Given the description of an element on the screen output the (x, y) to click on. 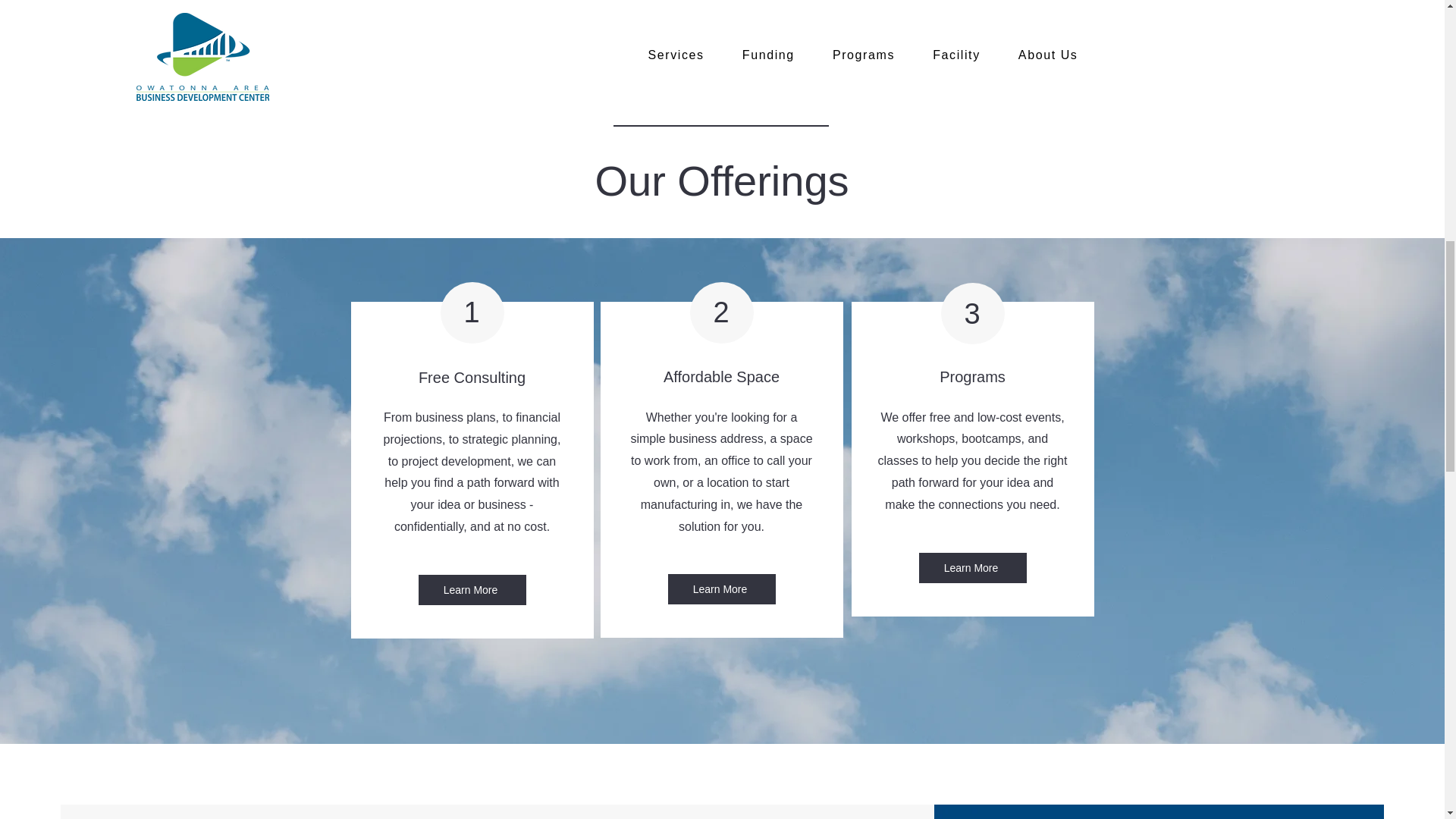
Learn More (720, 589)
Learn More (472, 589)
Learn More (972, 567)
